Given the description of an element on the screen output the (x, y) to click on. 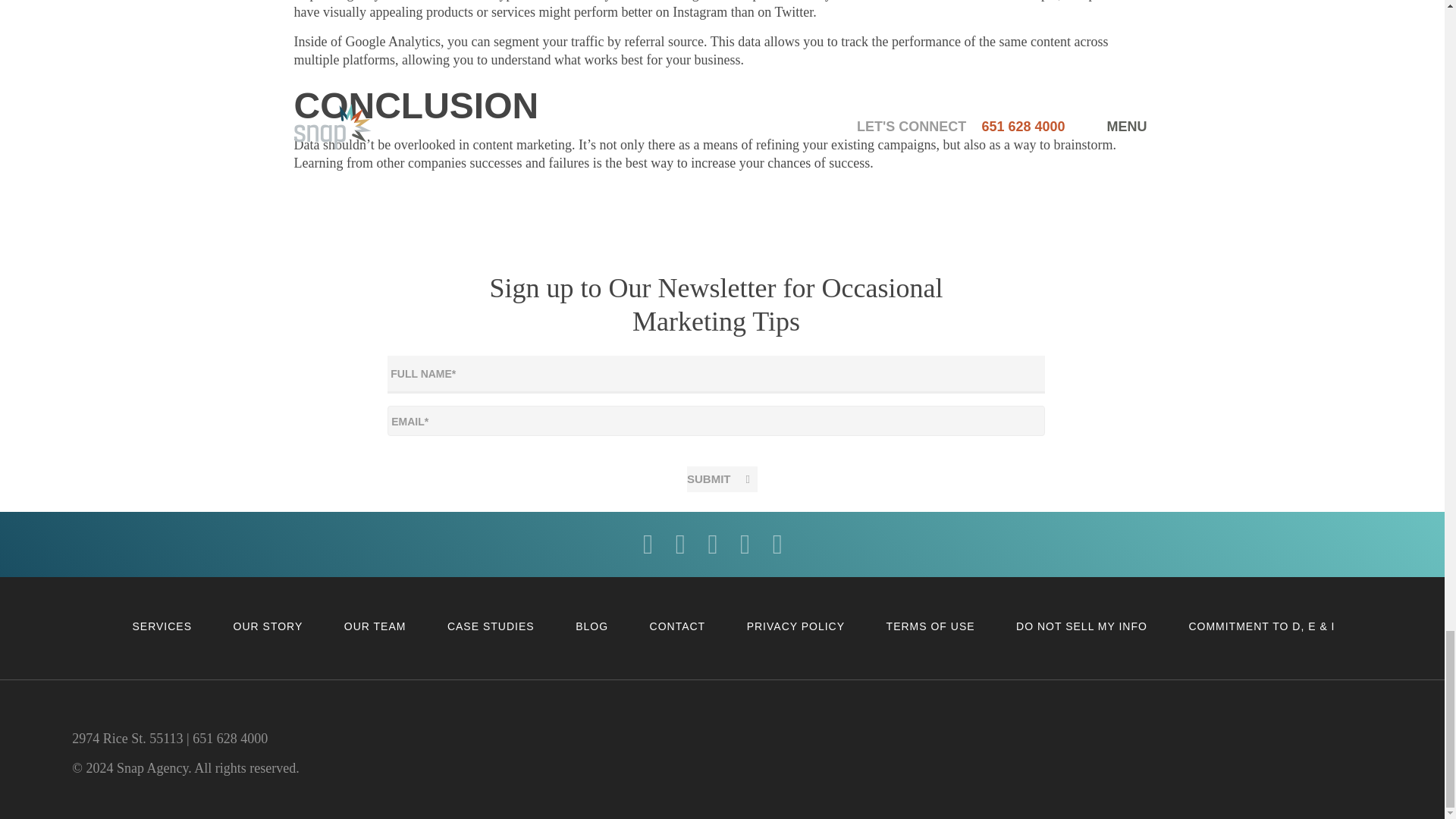
CASE STUDIES (490, 626)
BLOG (591, 626)
PRIVACY POLICY (795, 626)
DO NOT SELL MY INFO (1081, 626)
SERVICES (162, 626)
OUR STORY (267, 626)
OUR TEAM (374, 626)
TERMS OF USE (930, 626)
CONTACT (677, 626)
SUBMIT (722, 479)
